Given the description of an element on the screen output the (x, y) to click on. 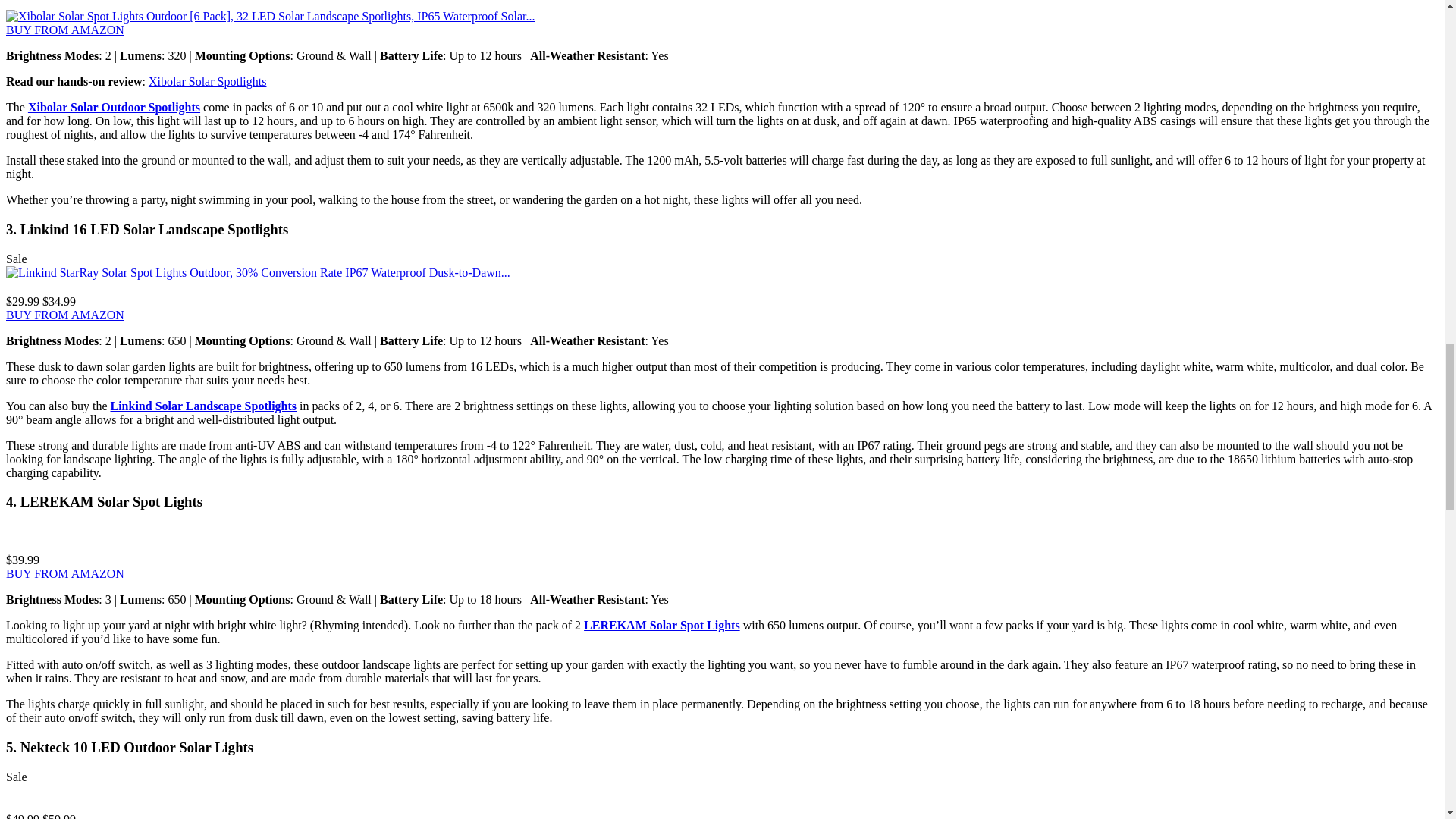
Amazon Prime (26, 805)
BUY FROM AMAZON (64, 573)
Amazon Prime (26, 287)
Amazon Prime (26, 545)
BUY FROM AMAZON (64, 29)
BUY FROM AMAZON (64, 314)
